Given the description of an element on the screen output the (x, y) to click on. 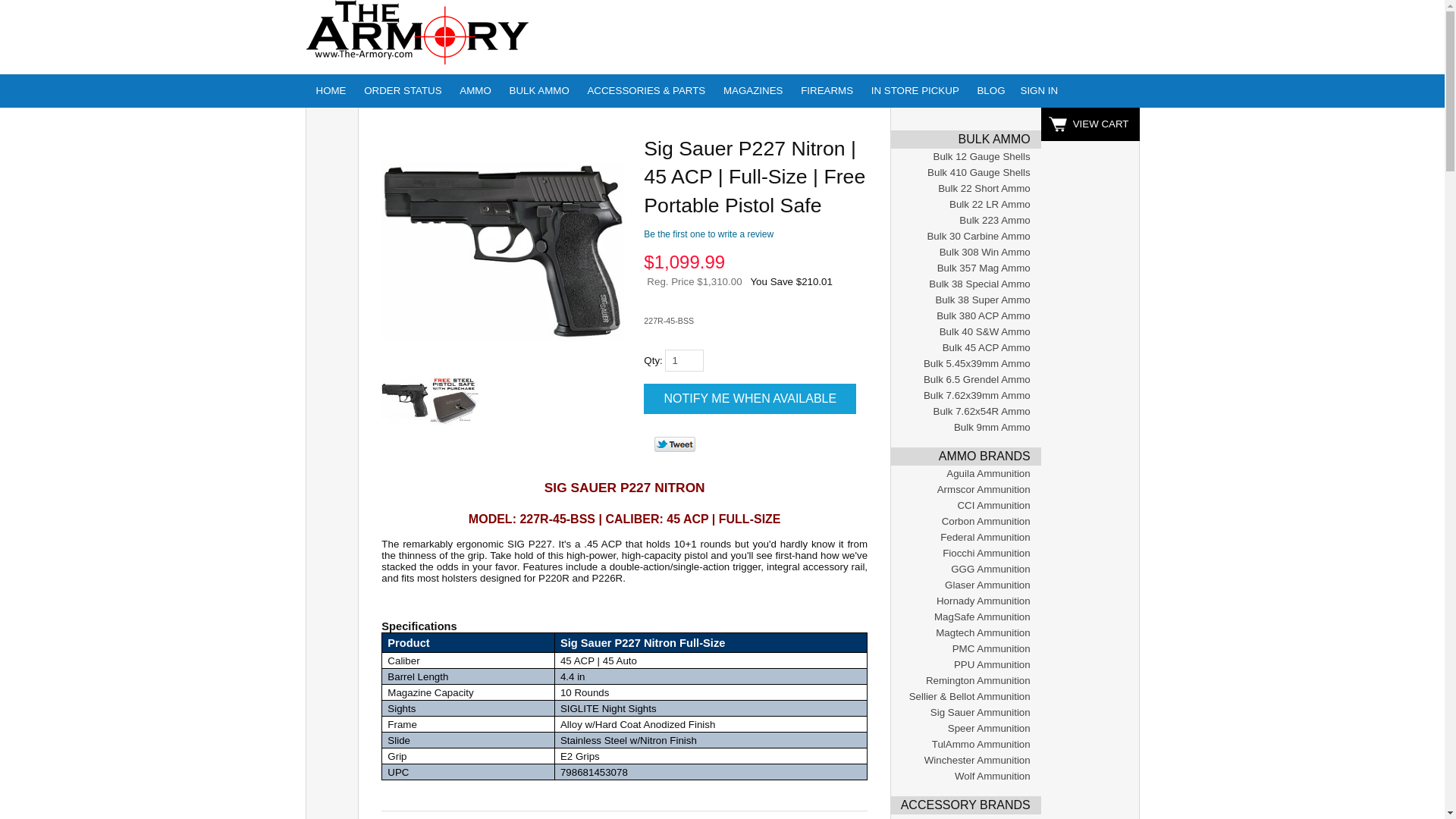
Notify Me When Available (749, 399)
AMMO (474, 90)
HOME (330, 90)
1 (684, 360)
Home (330, 90)
Order Status (402, 90)
ORDER STATUS (402, 90)
